Given the description of an element on the screen output the (x, y) to click on. 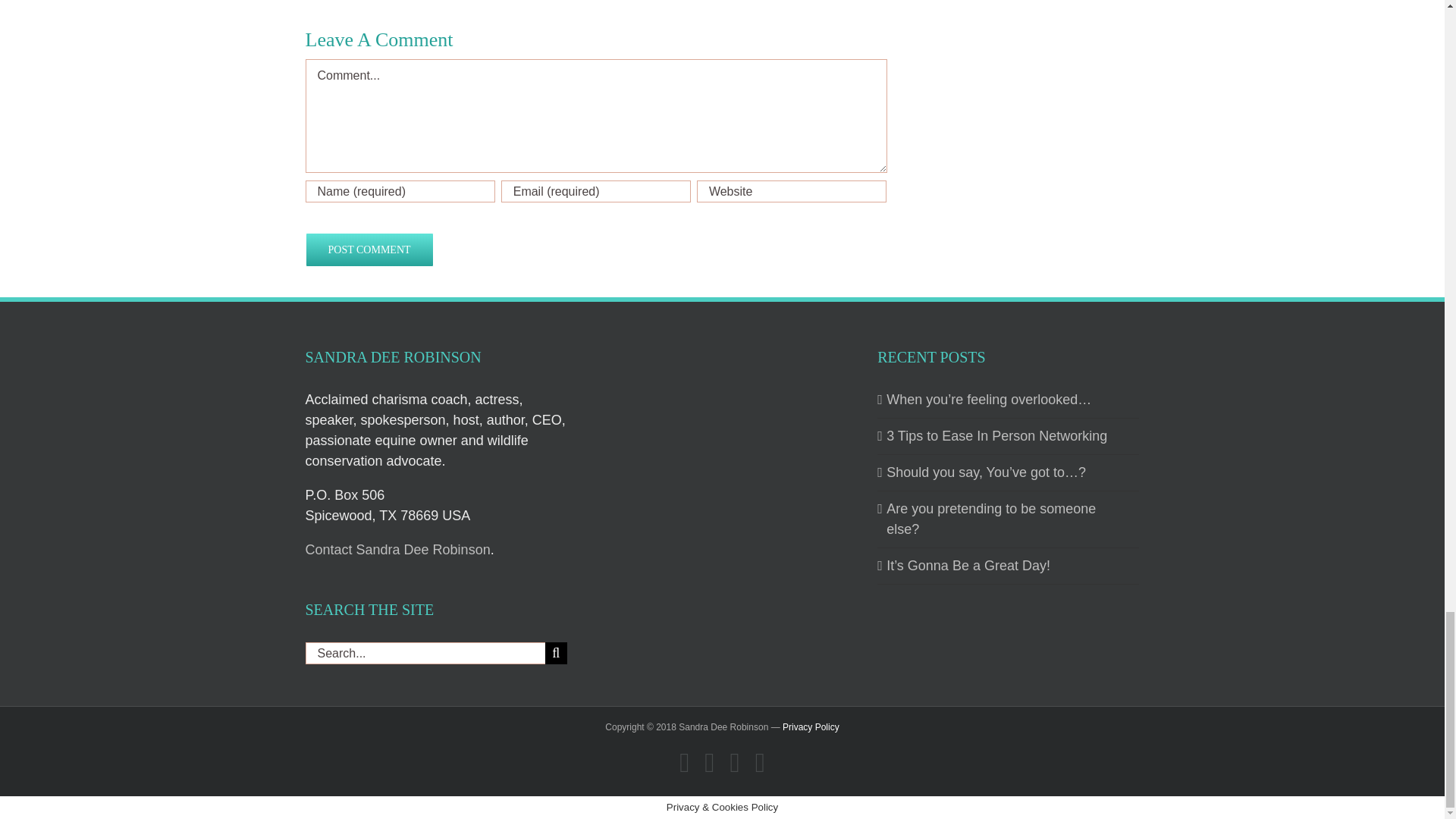
Post Comment (368, 249)
